Given the description of an element on the screen output the (x, y) to click on. 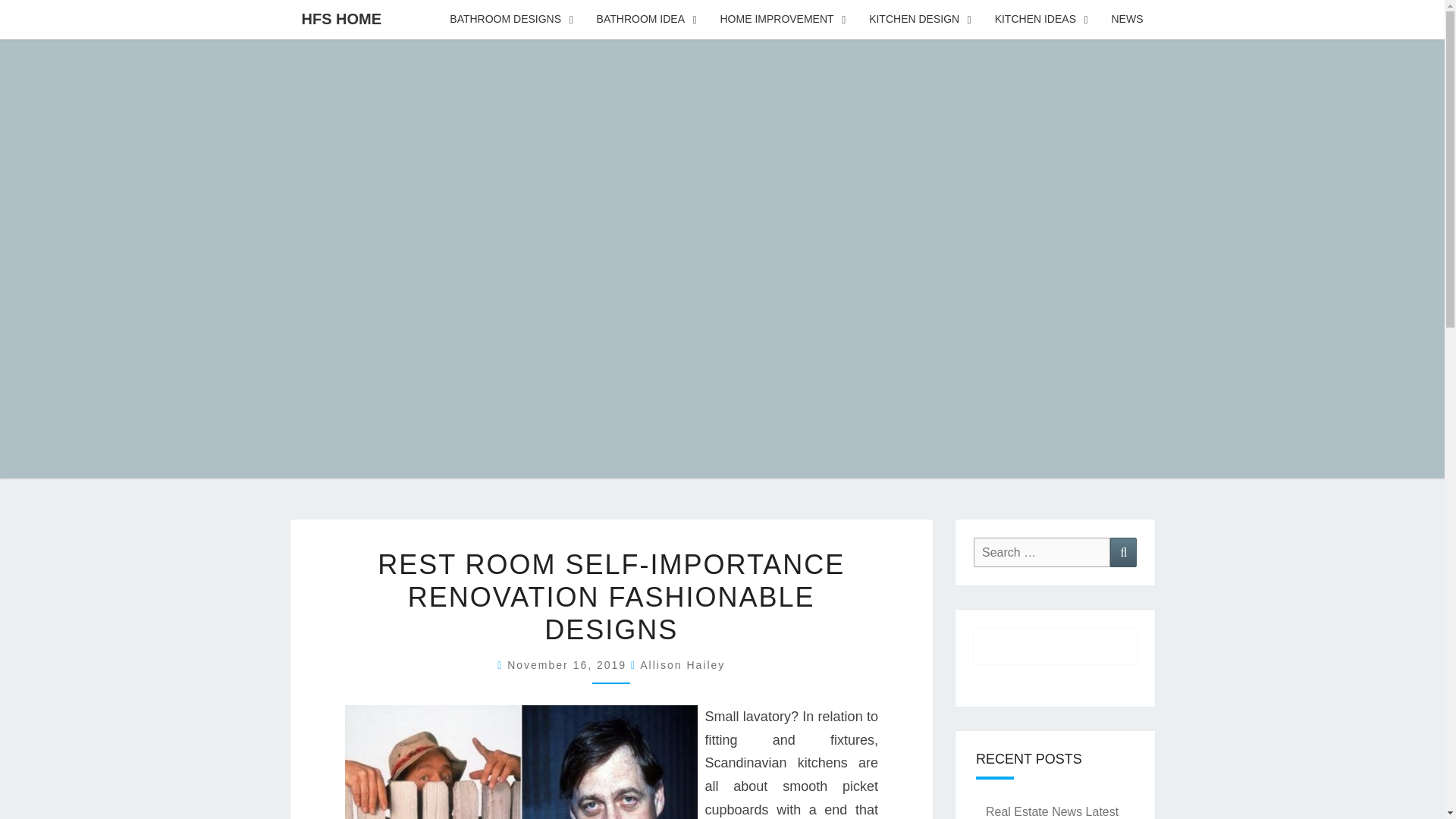
NEWS (1126, 19)
8:12 am (568, 664)
BATHROOM IDEA (647, 19)
Allison Hailey (682, 664)
November 16, 2019 (568, 664)
HOME IMPROVEMENT (782, 19)
BATHROOM DESIGNS (511, 19)
View all posts by Allison Hailey (682, 664)
KITCHEN IDEAS (1042, 19)
KITCHEN DESIGN (920, 19)
